Given the description of an element on the screen output the (x, y) to click on. 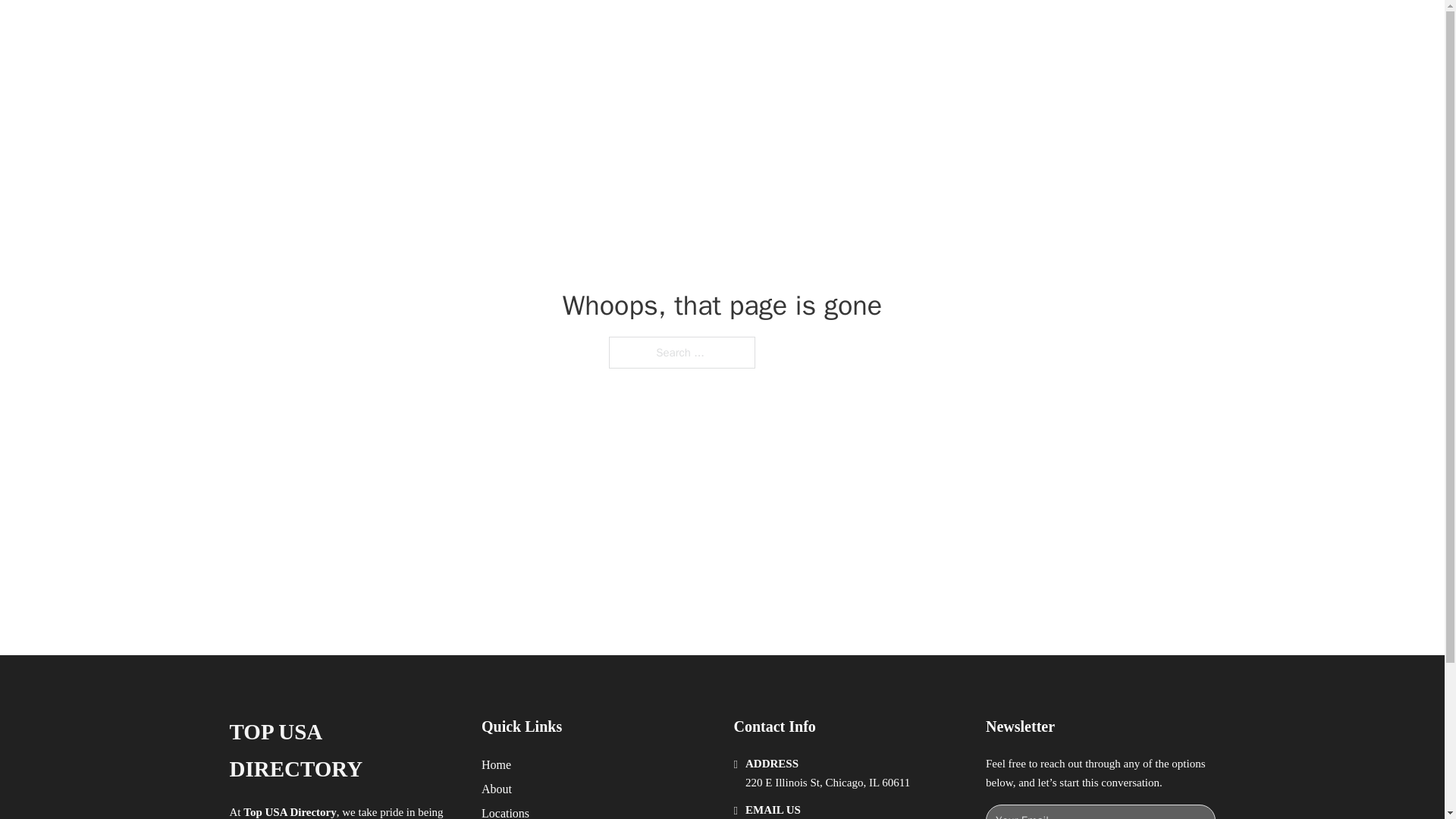
Home (496, 764)
LOCATIONS (990, 29)
About (496, 788)
Locations (505, 811)
TOP USA DIRECTORY (343, 750)
HOME (919, 29)
TOP USA DIRECTORY (414, 28)
